Given the description of an element on the screen output the (x, y) to click on. 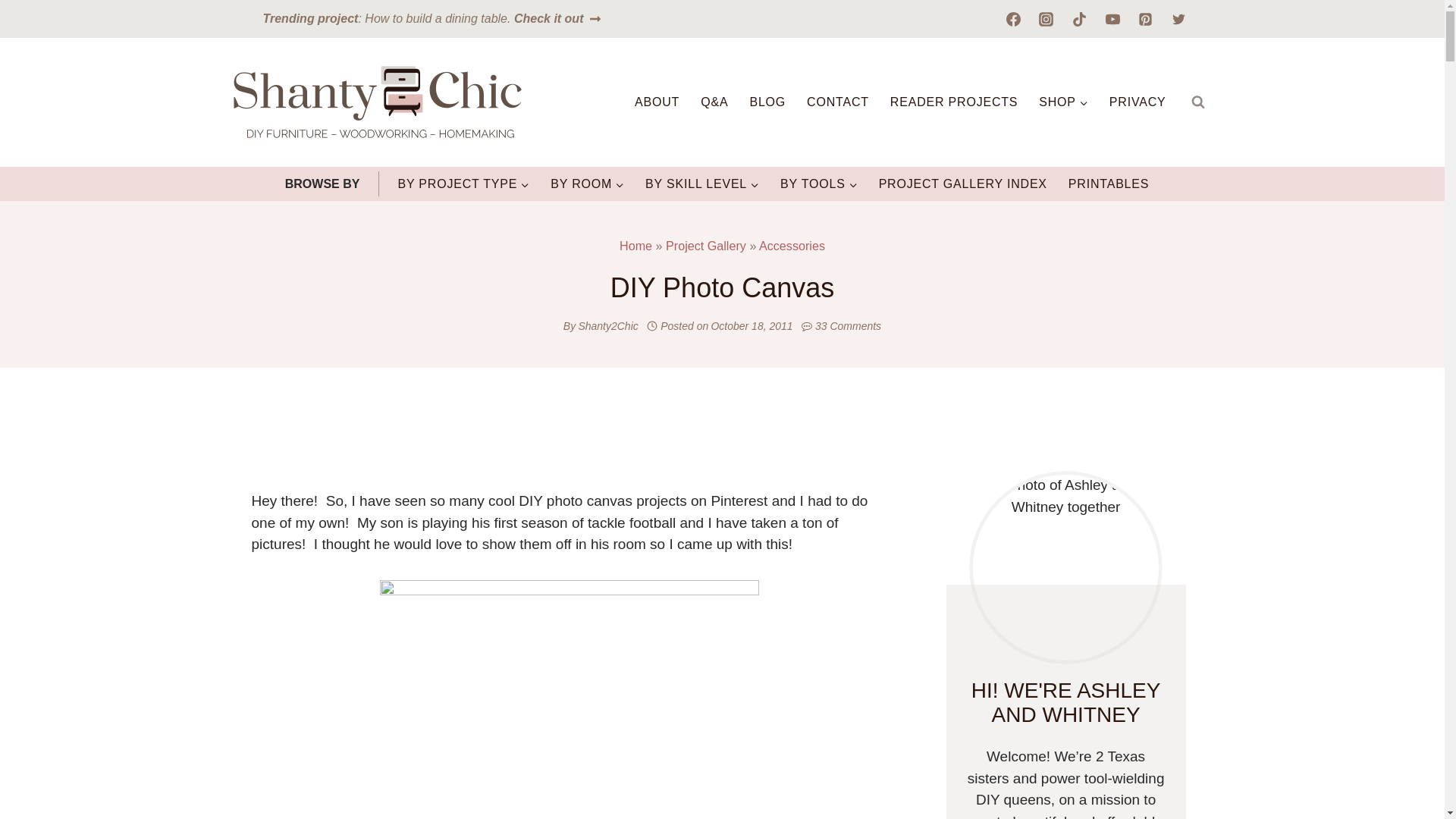
SHOP (1063, 101)
BLOG (767, 101)
035 (569, 699)
BY PROJECT TYPE (463, 183)
33 Comments (847, 326)
CONTACT (837, 101)
ABOUT (657, 101)
PRIVACY (1137, 101)
BY ROOM (587, 183)
READER PROJECTS (953, 101)
Trending project: How to build a dining table. Check it out (431, 18)
